Given the description of an element on the screen output the (x, y) to click on. 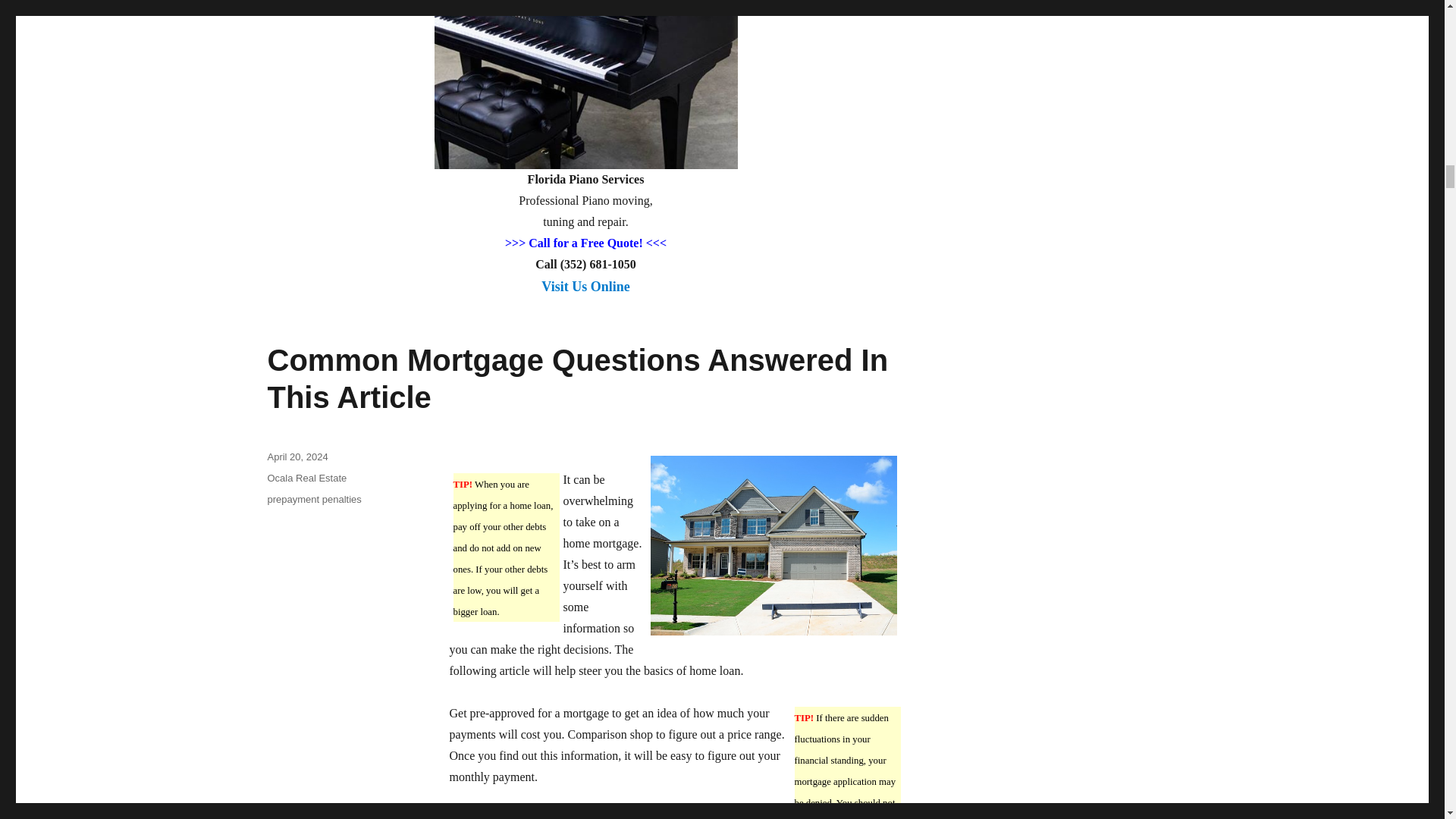
prepayment penalties (313, 499)
Ocala Real Estate (306, 478)
April 20, 2024 (296, 456)
Common Mortgage Questions Answered In This Article (577, 378)
Visit Us Online (585, 295)
